Given the description of an element on the screen output the (x, y) to click on. 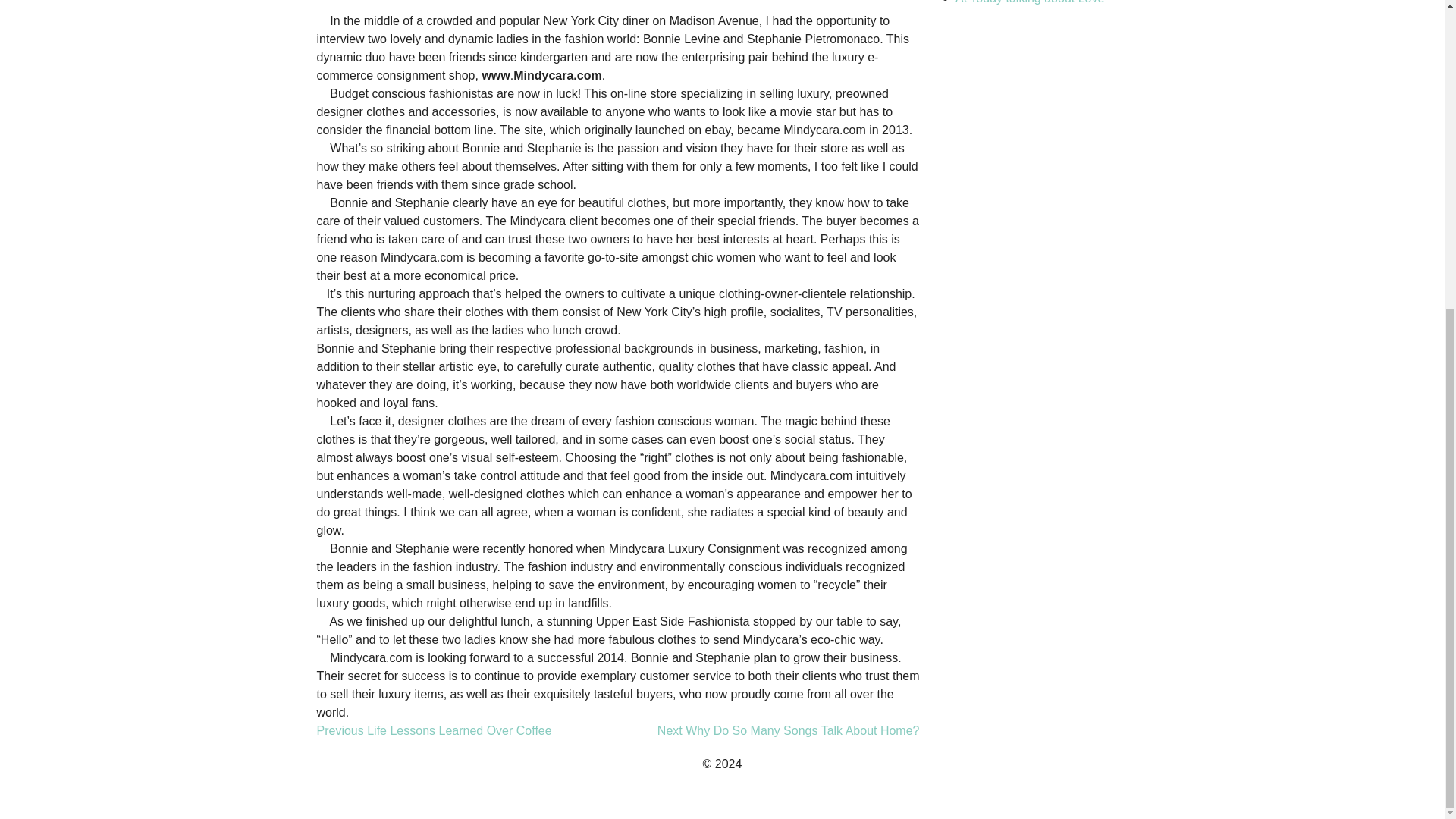
At Today talking about Love (434, 730)
